Given the description of an element on the screen output the (x, y) to click on. 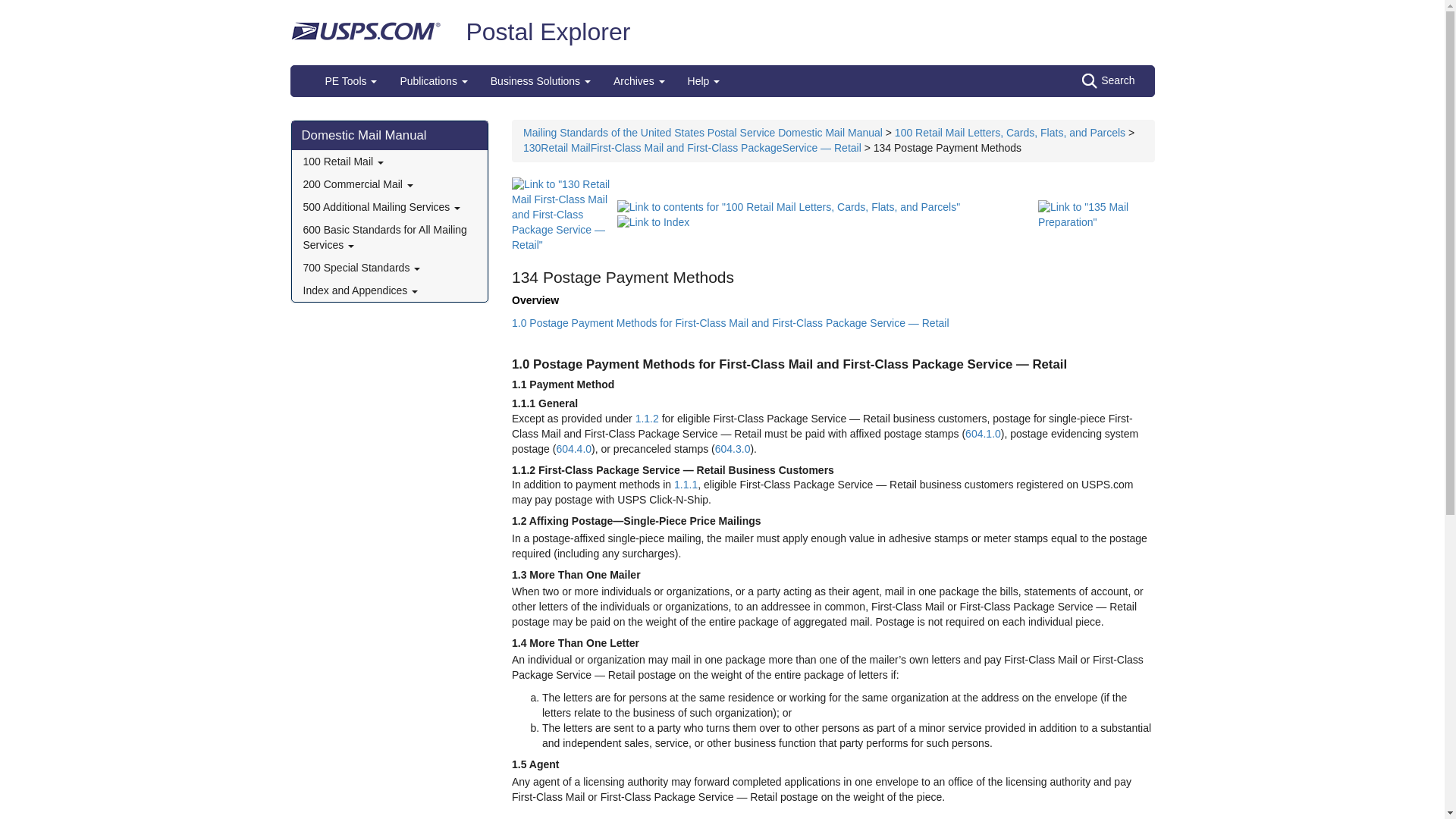
Publications (433, 81)
Business Solutions (540, 81)
Link to "135 Mail Preparation" (1096, 214)
Postal Explorer (547, 31)
PE Tools (351, 81)
Link to Index (652, 222)
